Given the description of an element on the screen output the (x, y) to click on. 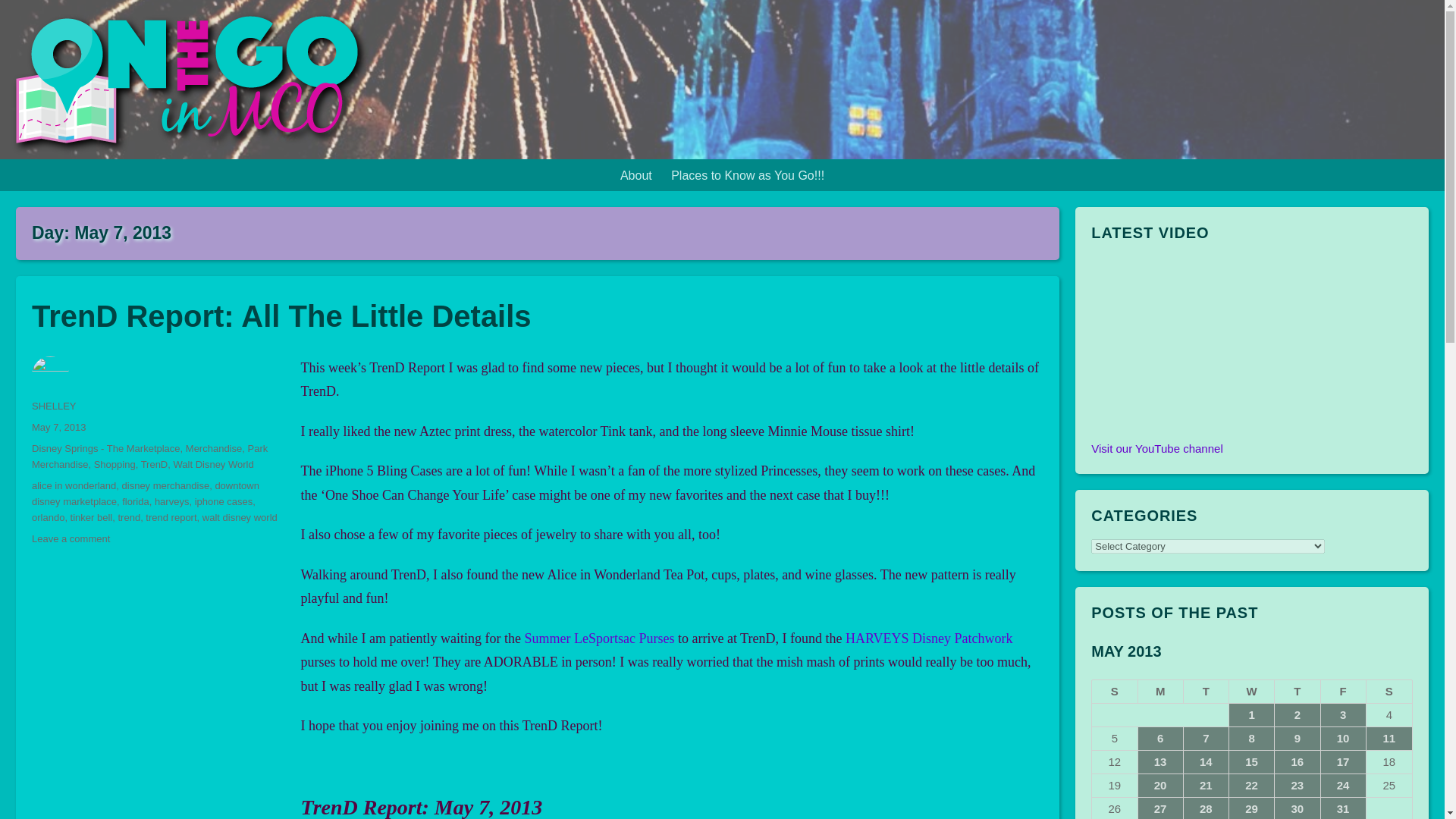
Visit our YouTube channel (1156, 448)
Shopping (114, 464)
Monday (1159, 691)
Merchandise (213, 448)
Friday (1343, 691)
Summer LeSportsac Purses (599, 638)
Walt Disney World (213, 464)
Saturday (1389, 691)
Tuesday (1205, 691)
Park Merchandise (149, 456)
TrenD (154, 464)
Places to Know as You Go!!! (747, 174)
Wednesday (1251, 691)
May 7, 2013 (58, 427)
Sunday (1114, 691)
